Given the description of an element on the screen output the (x, y) to click on. 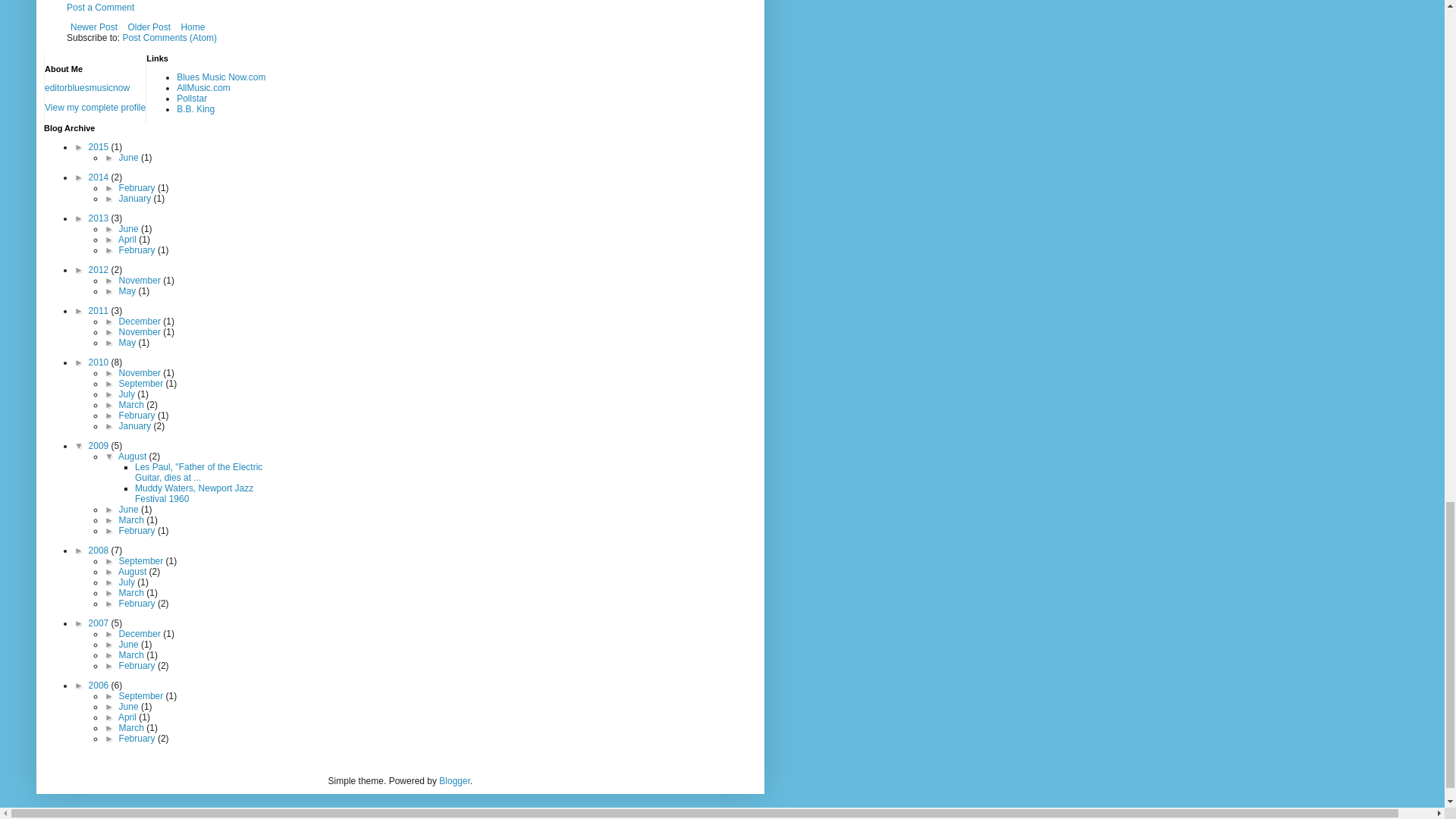
Older Post (148, 27)
editorbluesmusicnow (87, 87)
View my complete profile (95, 107)
Home (192, 27)
Post a Comment (99, 7)
Newer Post (93, 27)
